Given the description of an element on the screen output the (x, y) to click on. 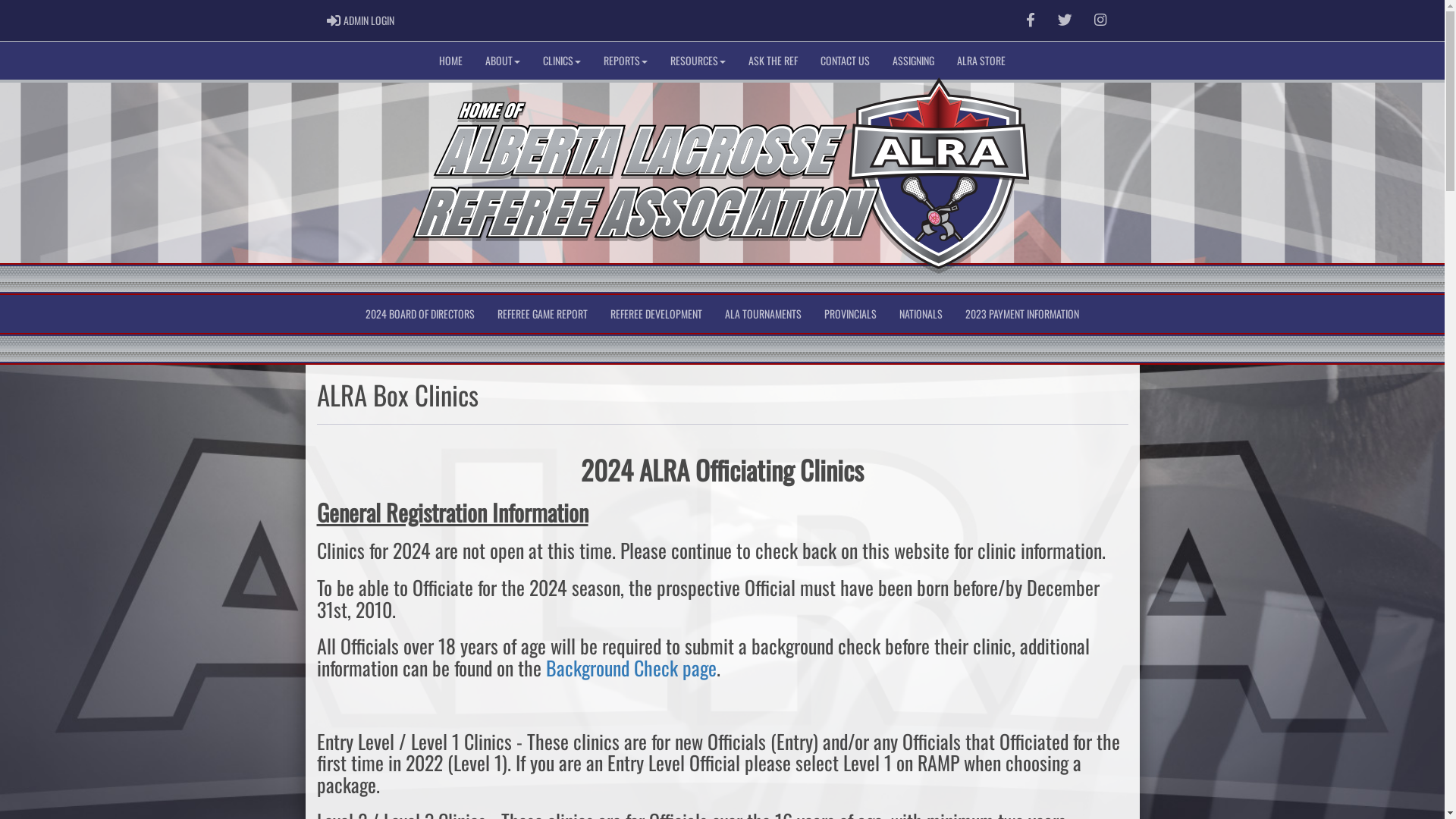
Facebook Element type: text (1030, 20)
ABOUT Element type: text (502, 60)
Twitter Element type: text (1065, 20)
2023 PAYMENT INFORMATION Element type: text (1021, 313)
REFEREE DEVELOPMENT Element type: text (656, 313)
PROVINCIALS Element type: text (850, 313)
ALRA STORE Element type: text (980, 60)
REPORTS Element type: text (625, 60)
2024 BOARD OF DIRECTORS Element type: text (420, 313)
REFEREE GAME REPORT Element type: text (542, 313)
CLINICS Element type: text (561, 60)
LOGIN PAGE
 ADMIN LOGIN
ADMIN LOGIN Element type: text (360, 20)
follow us Element type: hover (1064, 19)
Instagram Element type: text (1100, 20)
Background Check page Element type: text (631, 667)
ALA TOURNAMENTS Element type: text (762, 313)
NATIONALS Element type: text (920, 313)
HOME Element type: text (450, 60)
like us Element type: hover (1030, 19)
Login Page Element type: hover (333, 20)
ASSIGNING Element type: text (913, 60)
ASK THE REF Element type: text (773, 60)
RESOURCES Element type: text (697, 60)
CONTACT US Element type: text (845, 60)
instagram Element type: hover (1100, 19)
